Given the description of an element on the screen output the (x, y) to click on. 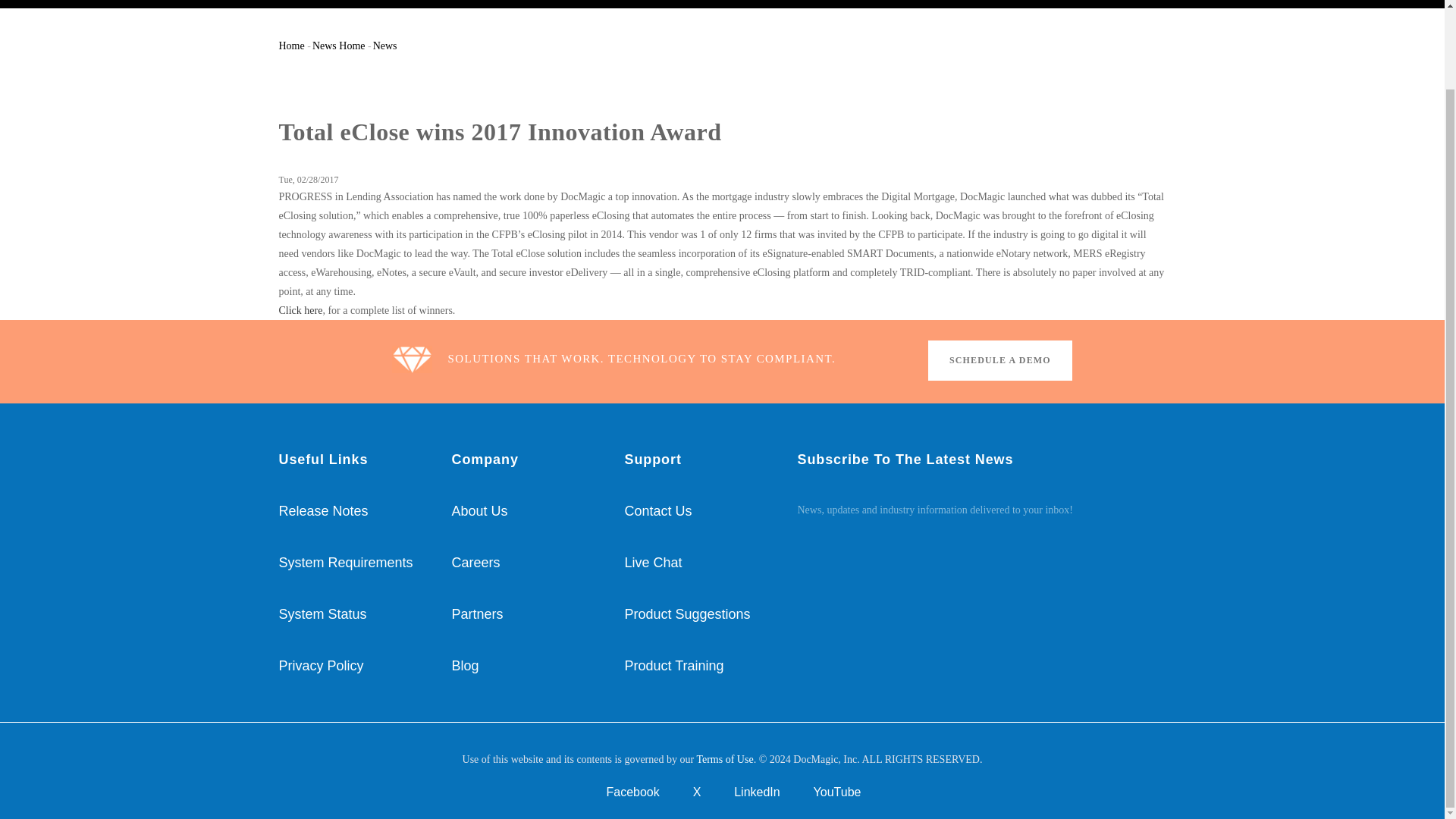
SOLUTIONS (587, 2)
SERVICES (670, 2)
Home (367, 3)
